Given the description of an element on the screen output the (x, y) to click on. 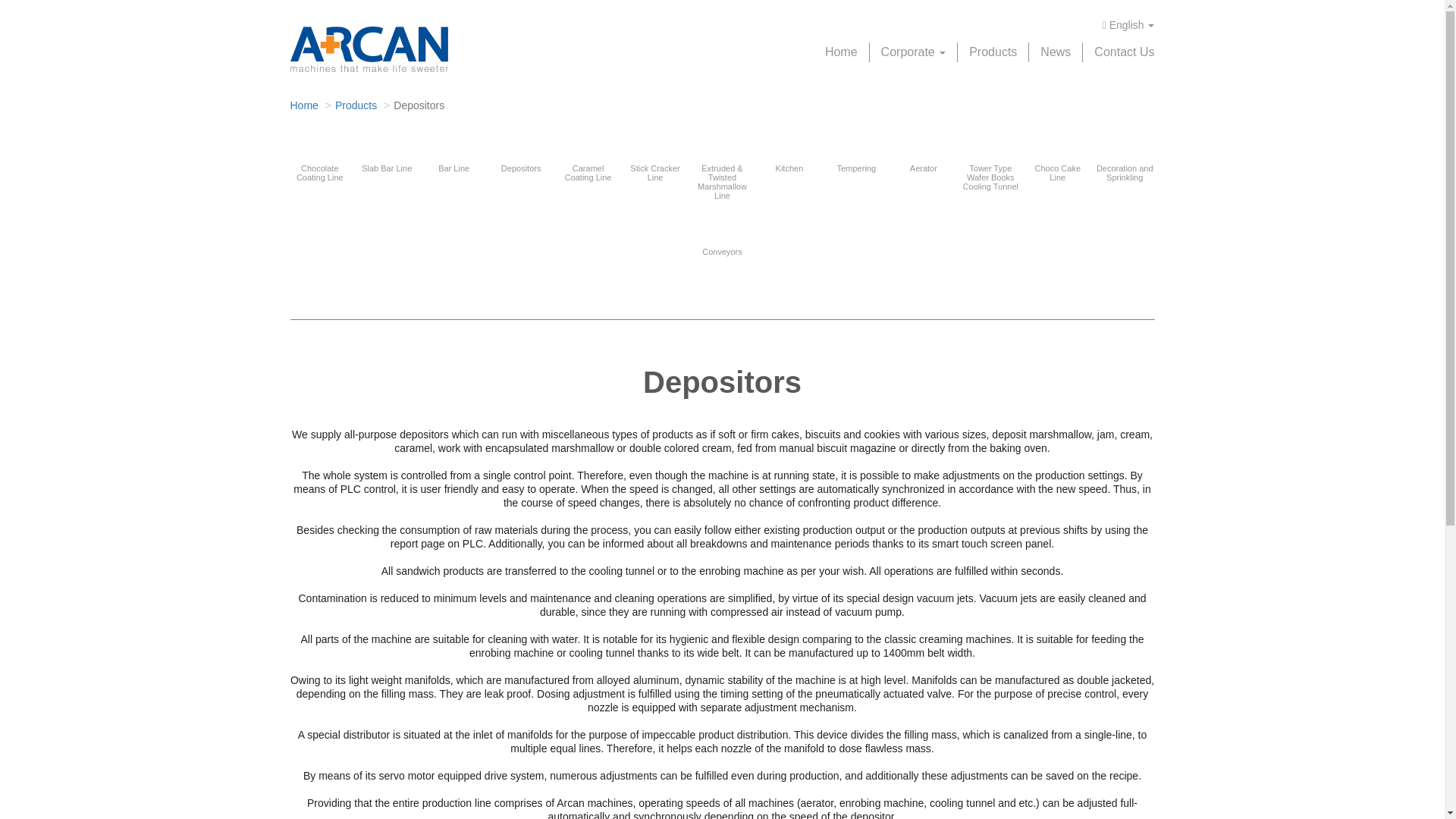
News (1056, 52)
Home (303, 105)
English (1128, 25)
Products (993, 52)
Home (841, 52)
Contact Us (1124, 52)
Corporate (913, 52)
Products (355, 105)
